Given the description of an element on the screen output the (x, y) to click on. 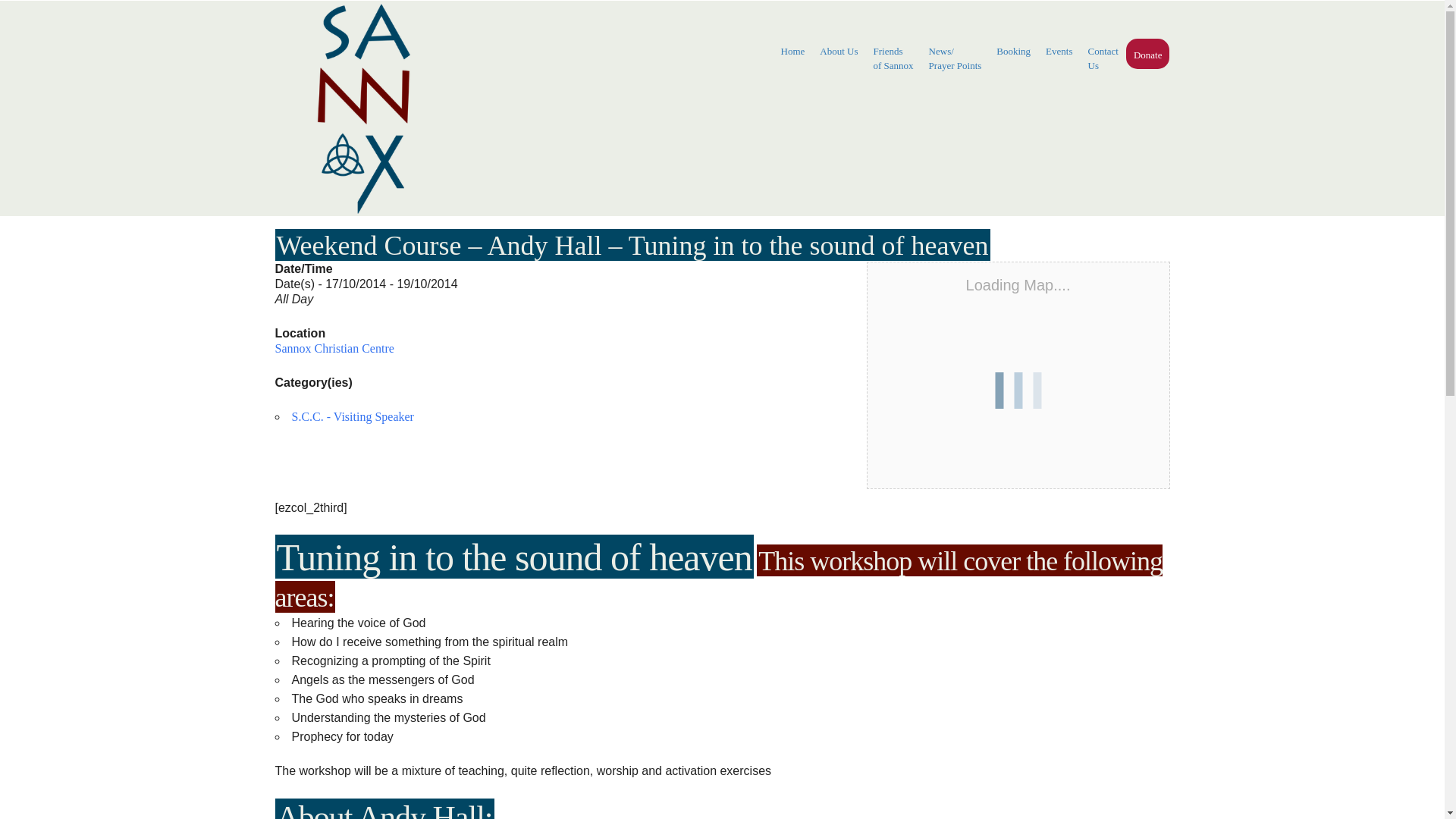
Booking (1013, 51)
Donate (1147, 55)
Events (1059, 51)
Home (792, 51)
About Us (1102, 58)
